Given the description of an element on the screen output the (x, y) to click on. 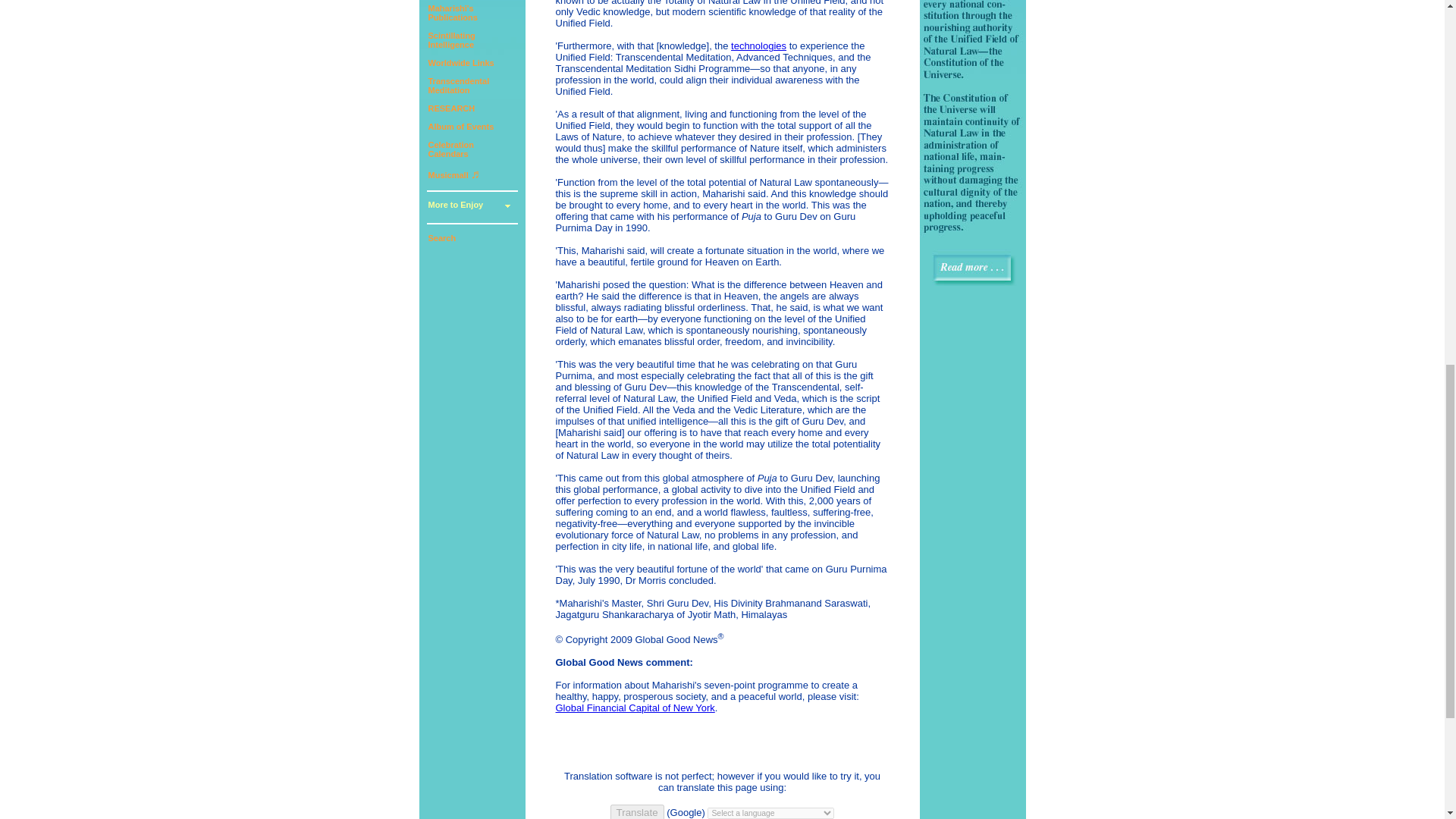
More to Enjoy (452, 13)
Translate (470, 206)
RESEARCH (636, 811)
Worldwide Links (451, 108)
Album of Events (451, 40)
